Given the description of an element on the screen output the (x, y) to click on. 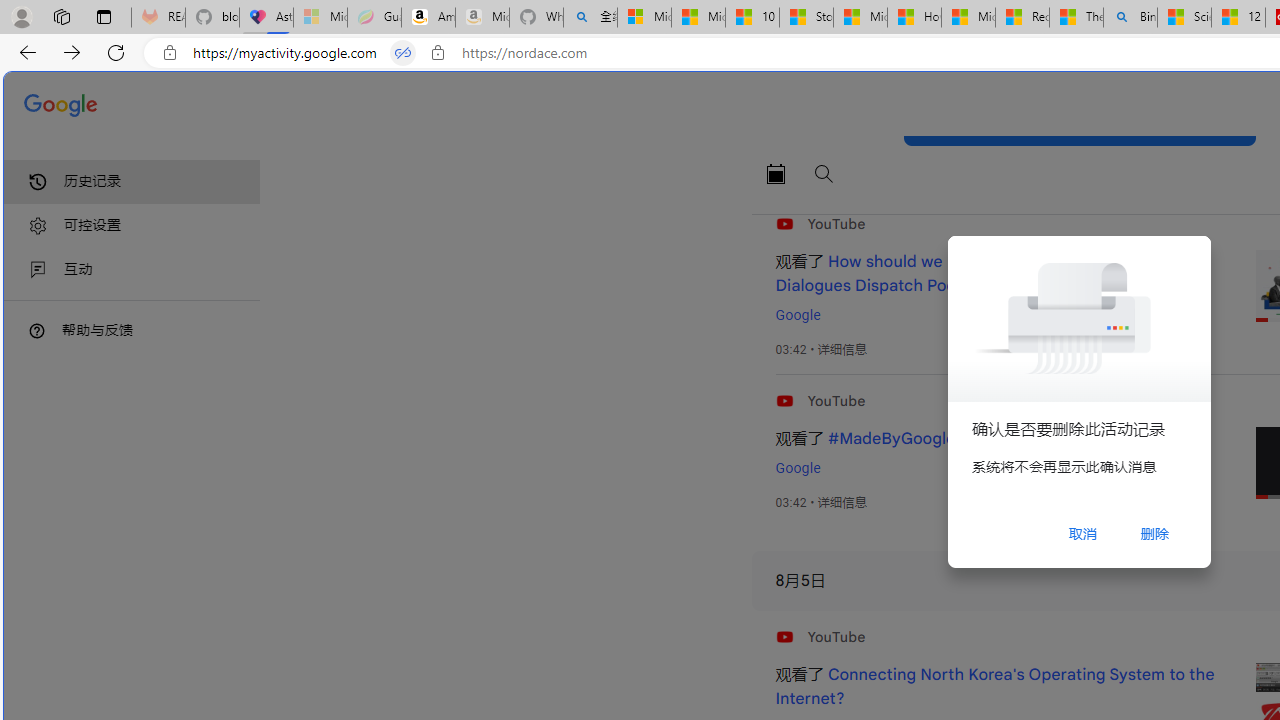
Tabs in split screen (403, 53)
How I Got Rid of Microsoft Edge's Unnecessary Features (914, 17)
